Given the description of an element on the screen output the (x, y) to click on. 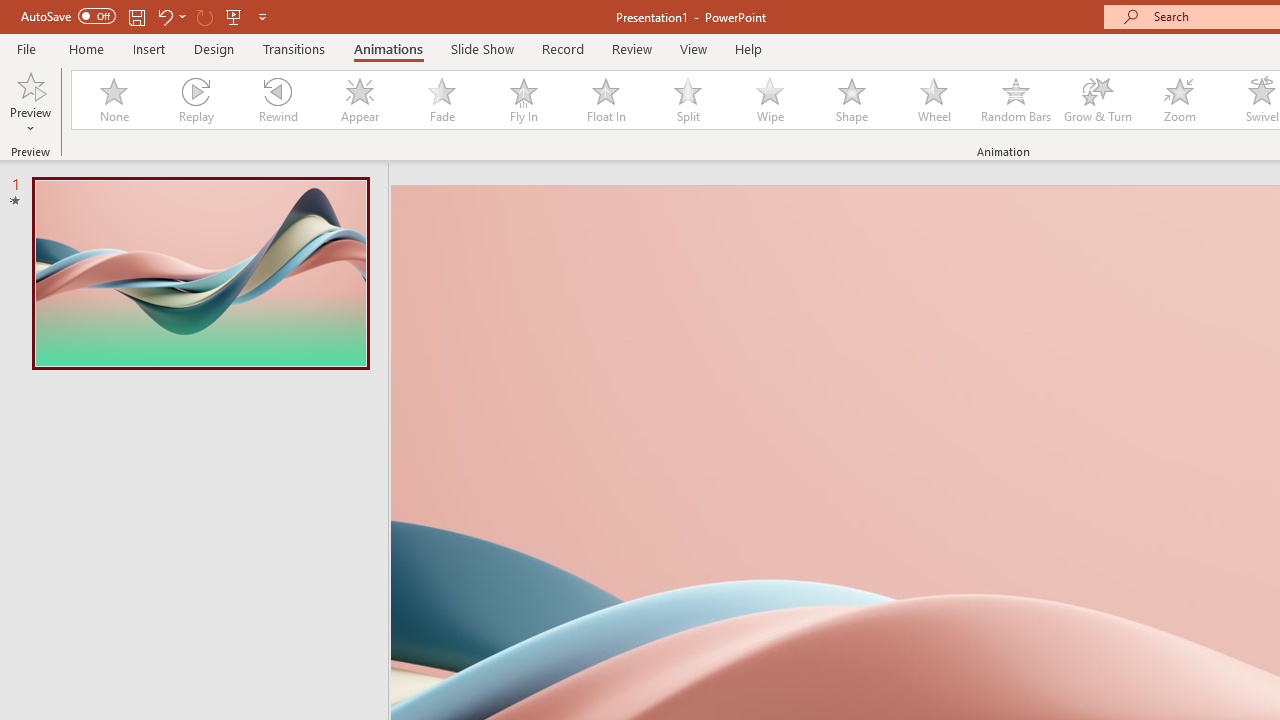
Appear (359, 100)
Fly In (523, 100)
Grow & Turn (1098, 100)
Wheel (934, 100)
